Given the description of an element on the screen output the (x, y) to click on. 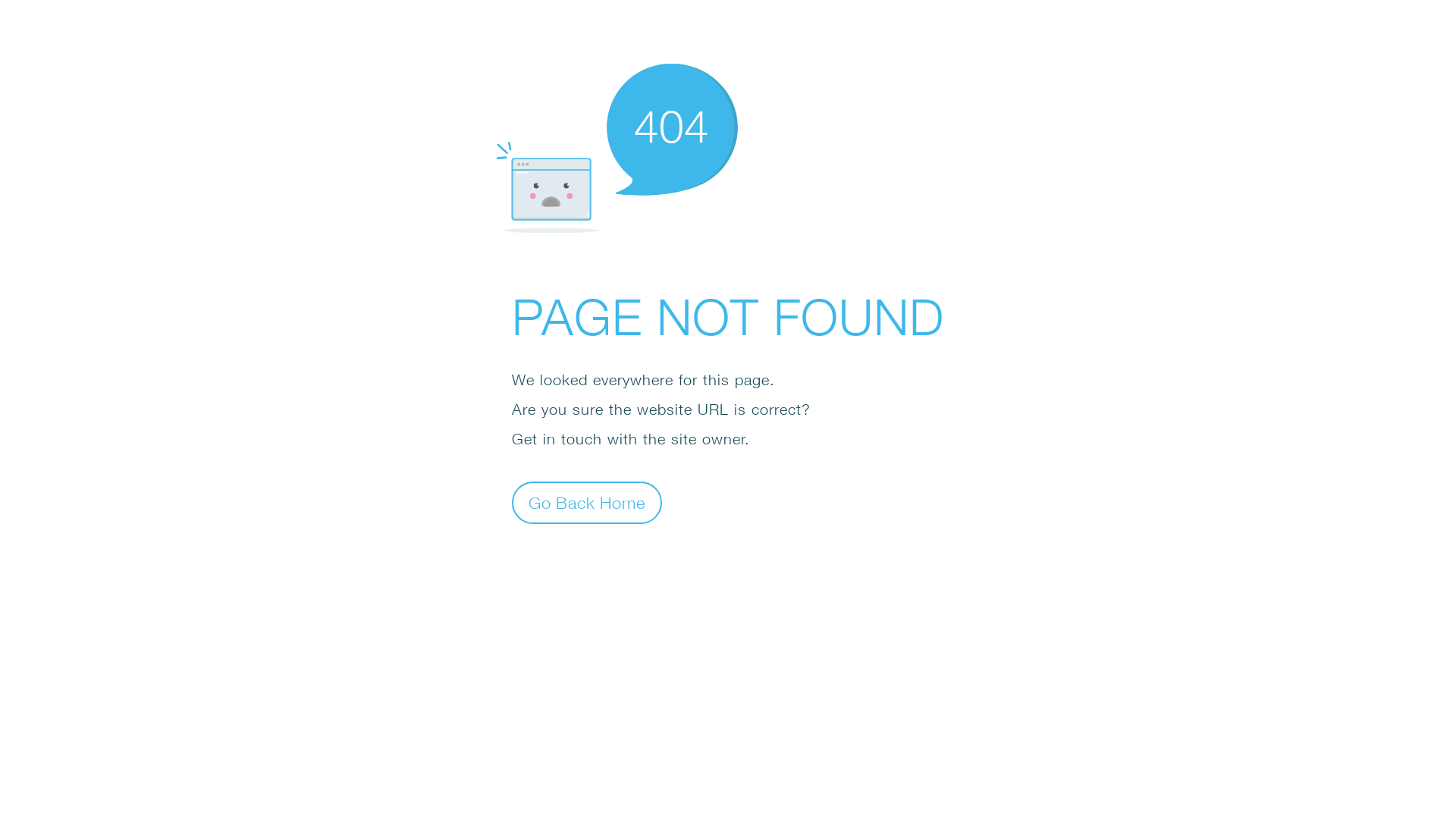
Go Back Home Element type: text (586, 502)
